Given the description of an element on the screen output the (x, y) to click on. 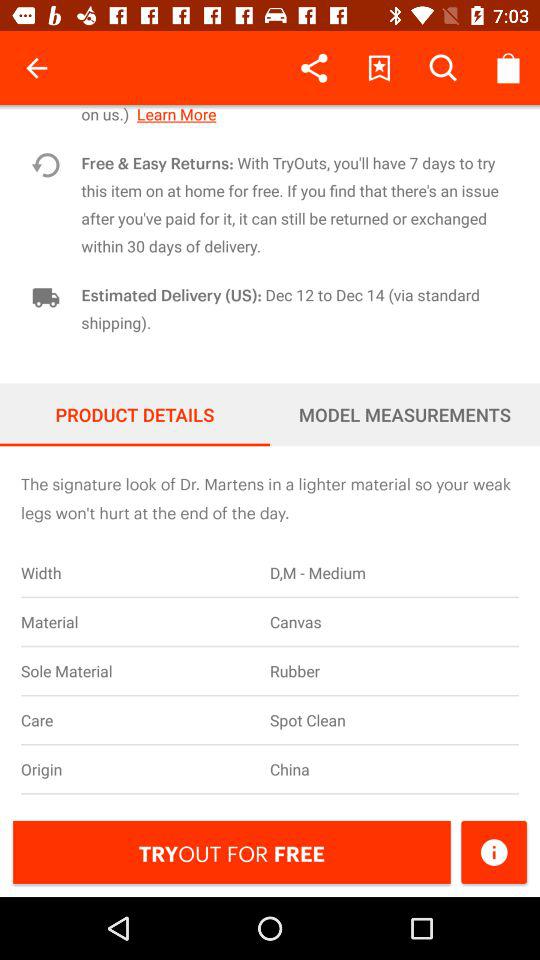
go to detailes (493, 851)
